Given the description of an element on the screen output the (x, y) to click on. 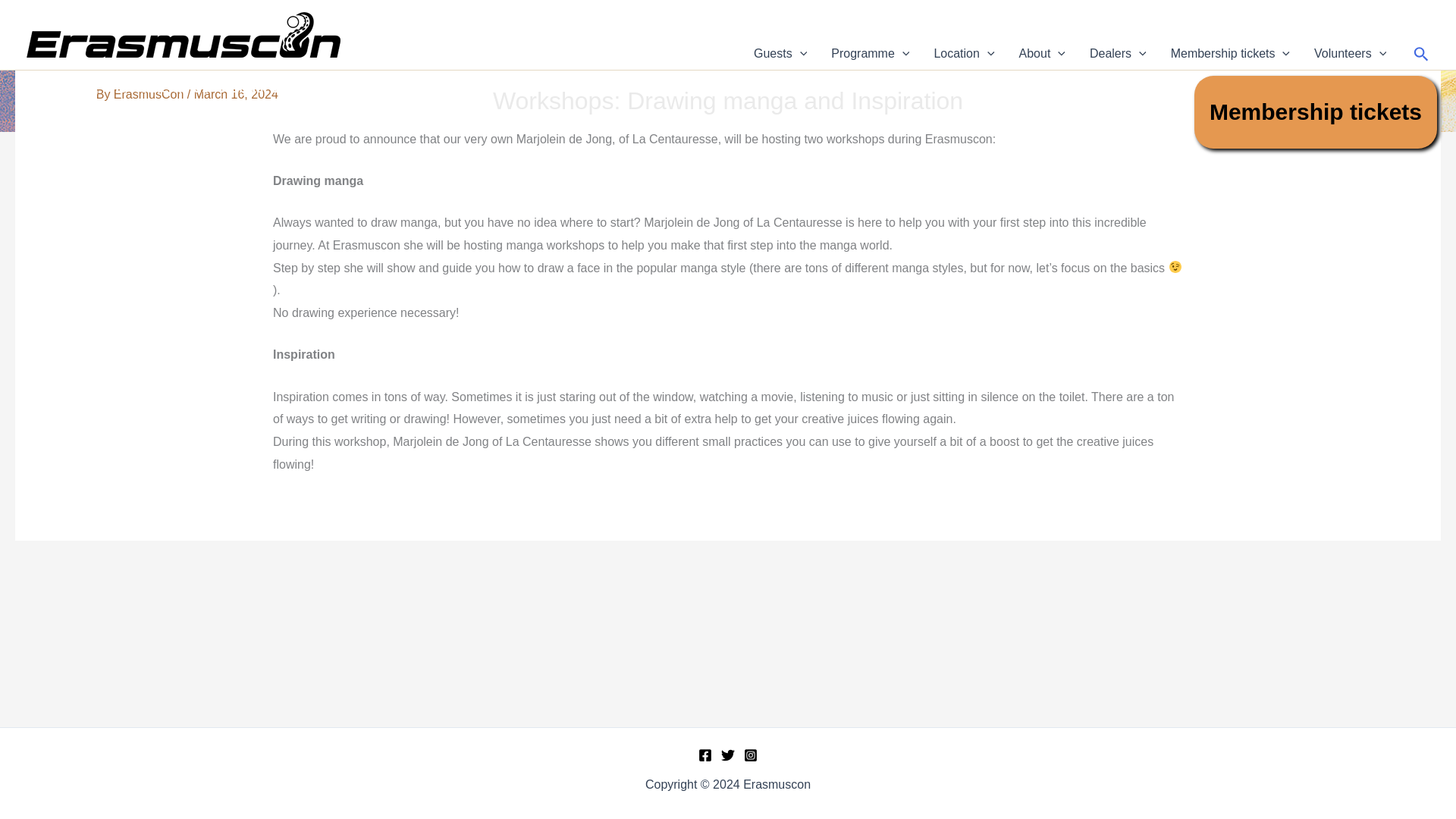
Guest: Renske de Wolf (1405, 735)
Programme (869, 53)
Guests (779, 53)
Membership tickets (1315, 112)
Guest: Alexander van de Bunt (61, 735)
View all posts by ErasmusCon (150, 93)
